Given the description of an element on the screen output the (x, y) to click on. 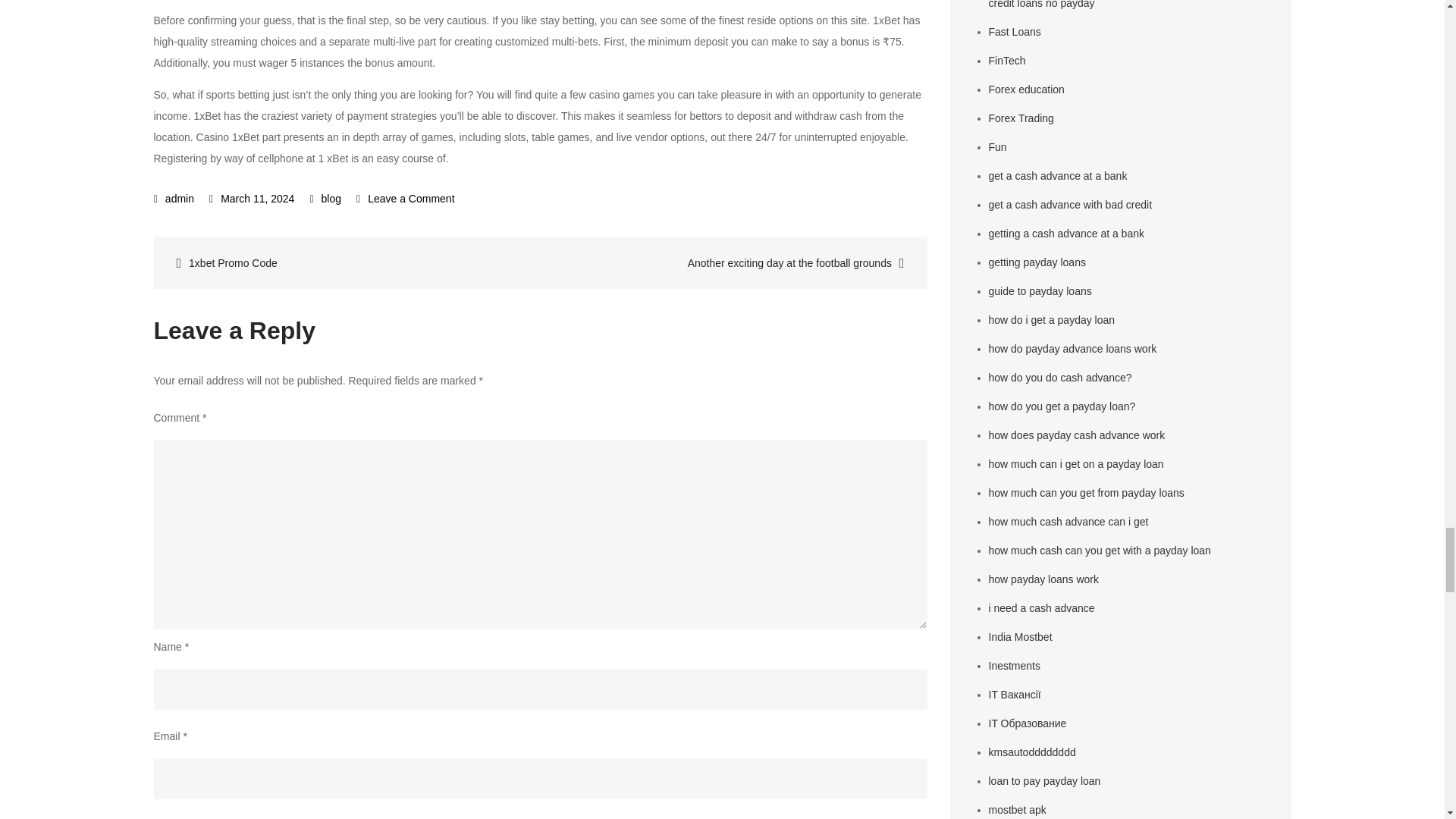
Another exciting day at the football grounds (731, 262)
blog (330, 198)
March 11, 2024 (251, 198)
1xbet Promo Code (348, 262)
admin (173, 198)
